Given the description of an element on the screen output the (x, y) to click on. 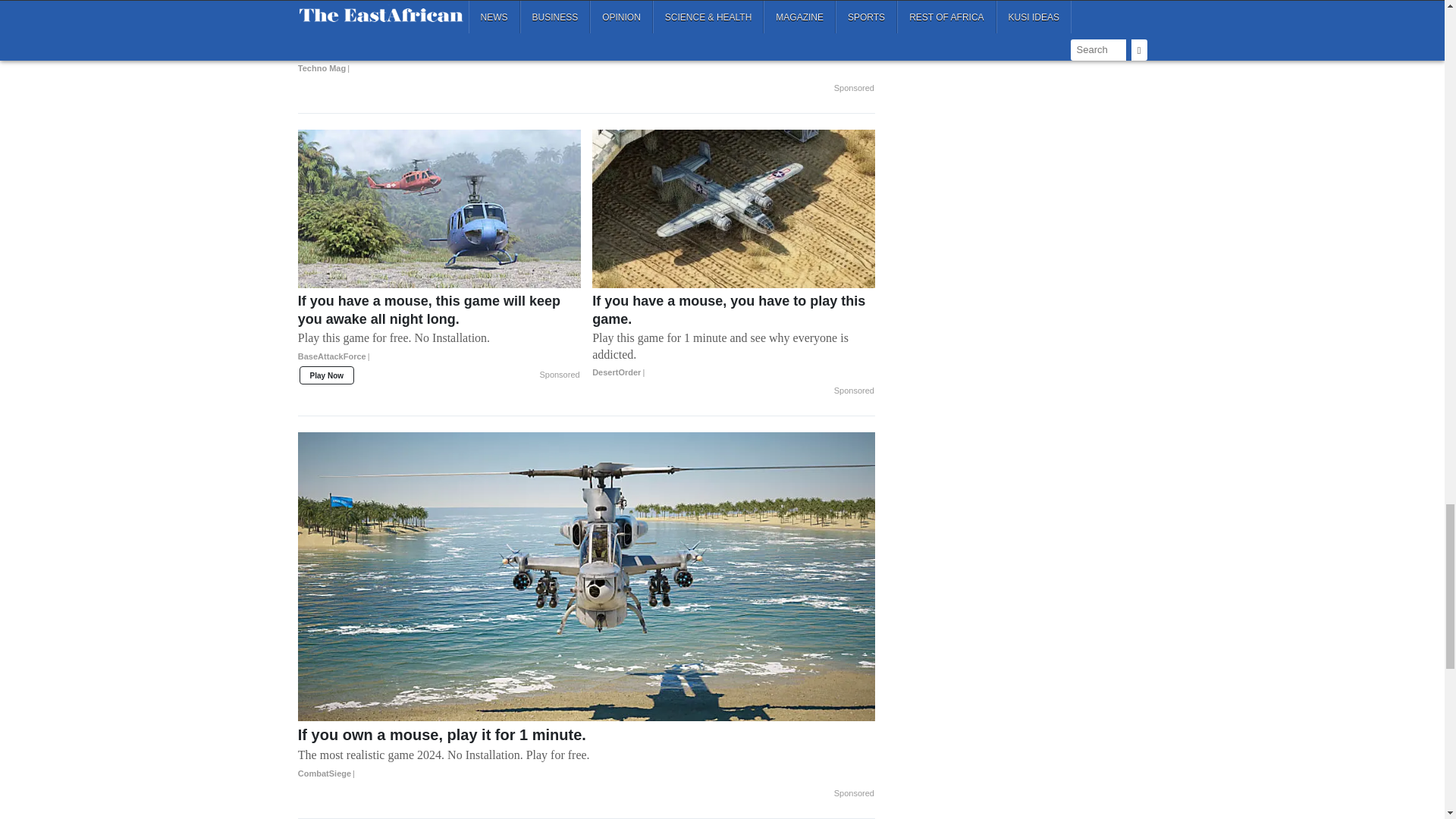
"Description: Play this game for free. No Installation." (439, 338)
Why Seniors are snapping up this TV Box, we explain! (586, 16)
Why Seniors are snapping up this TV Box, we explain! (586, 57)
